Given the description of an element on the screen output the (x, y) to click on. 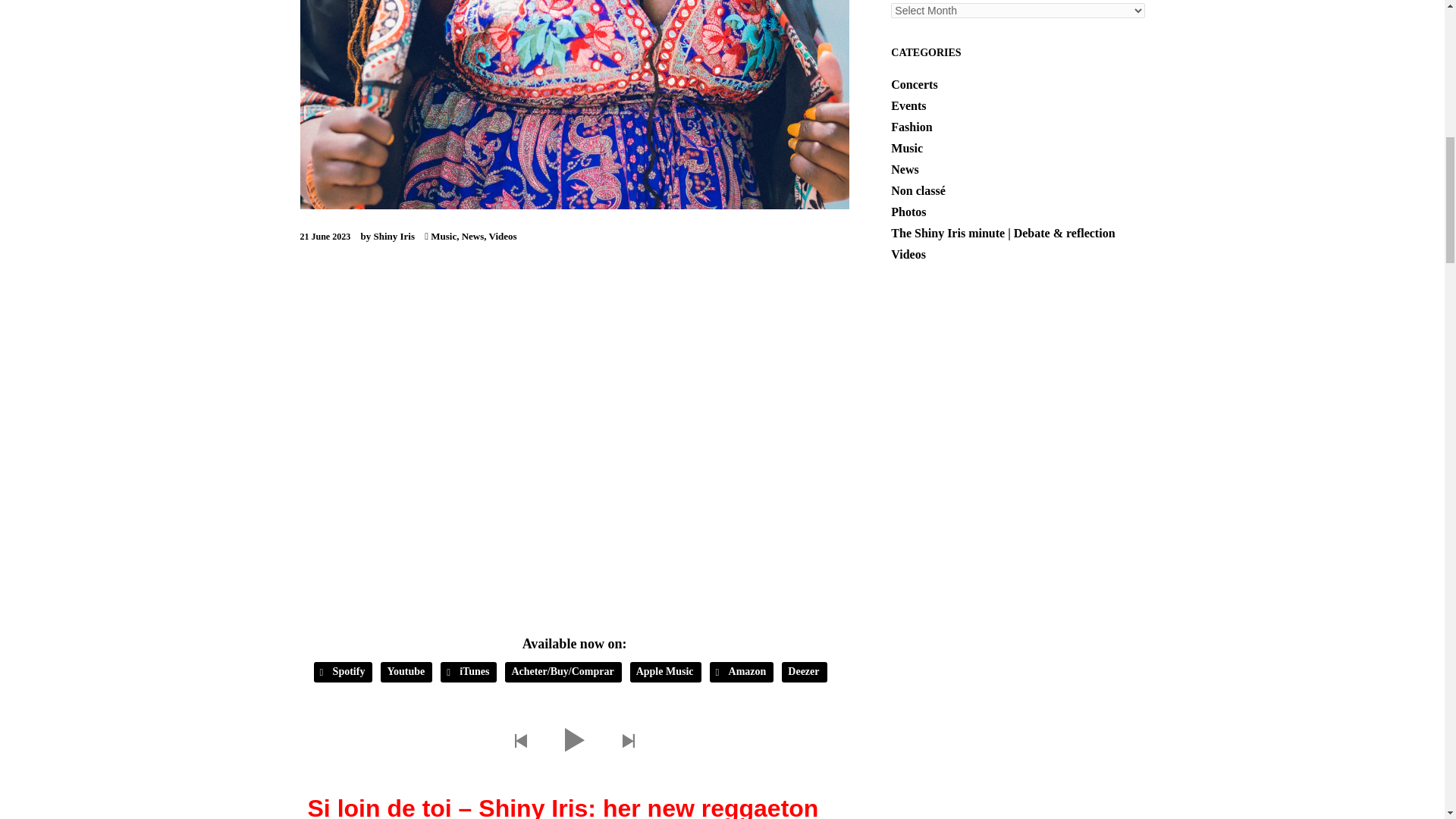
Videos (502, 235)
Music (443, 235)
News (472, 235)
Shiny Iris (397, 235)
